Given the description of an element on the screen output the (x, y) to click on. 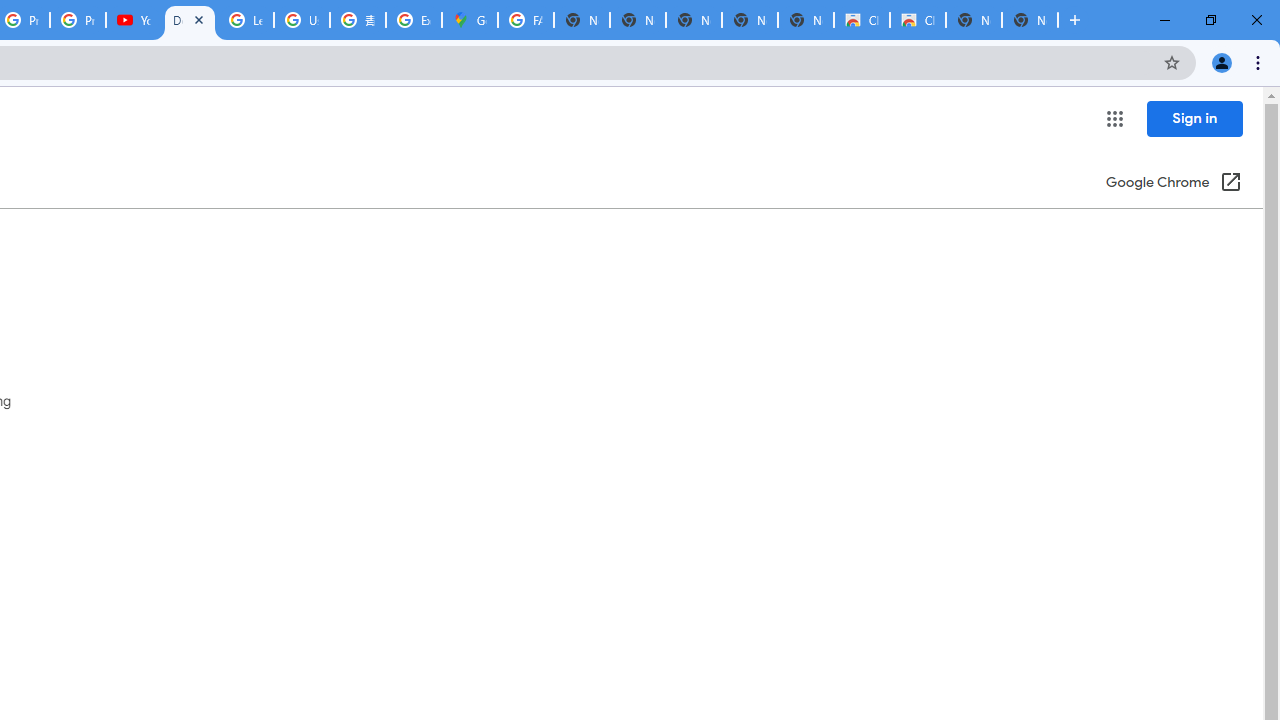
Google Maps (469, 20)
YouTube (134, 20)
New Tab (1030, 20)
